Given the description of an element on the screen output the (x, y) to click on. 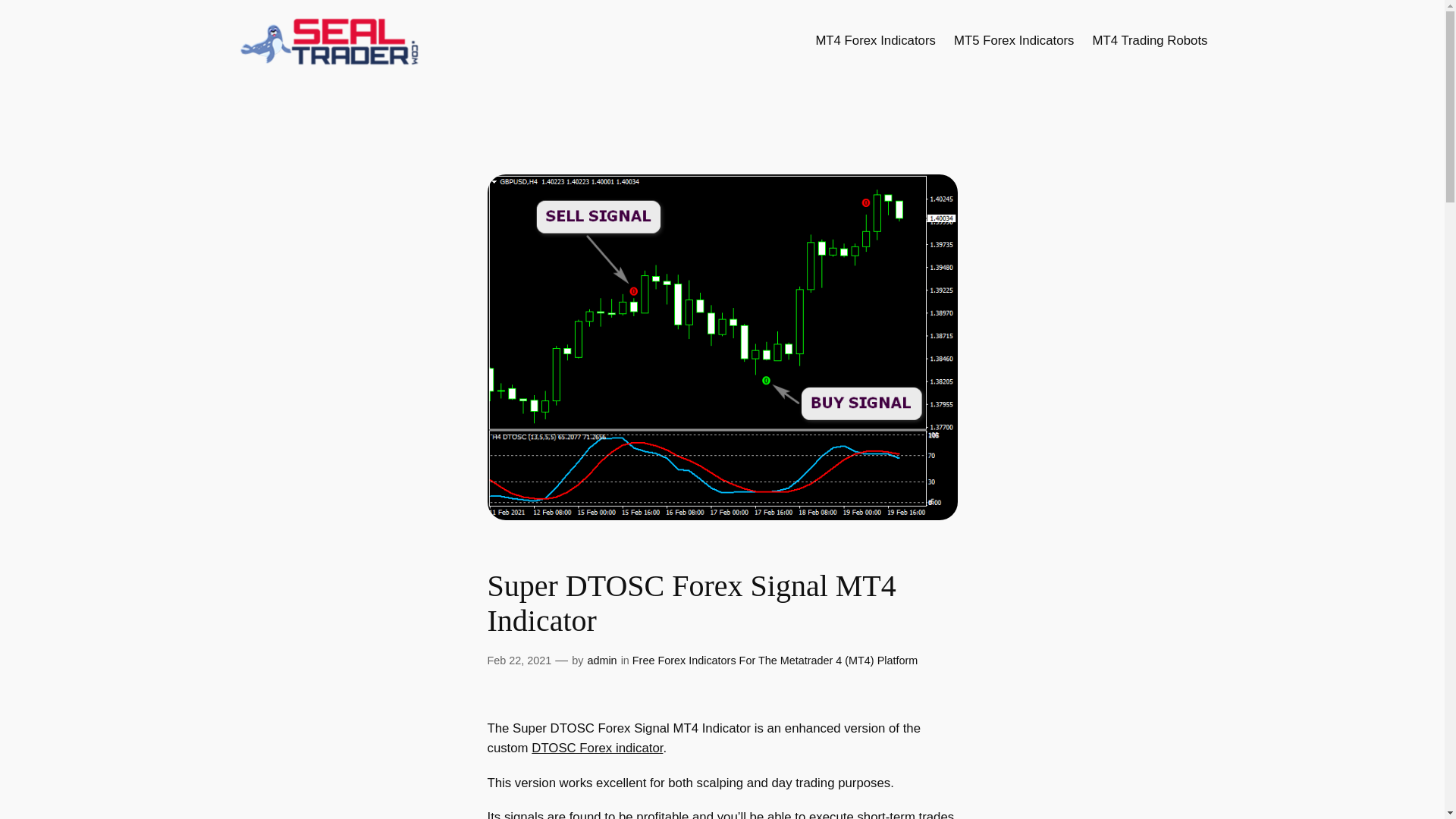
Feb 22, 2021 (518, 660)
MT5 Forex Indicators (1013, 40)
MT4 Expert Advisors (1149, 40)
MT5 Forex Indicators (1013, 40)
MT4 Trading Robots (1149, 40)
admin (600, 660)
MT4 Forex Indicators (875, 40)
DTOSC Forex indicator (596, 748)
MT4 Forex Indicators (875, 40)
